Given the description of an element on the screen output the (x, y) to click on. 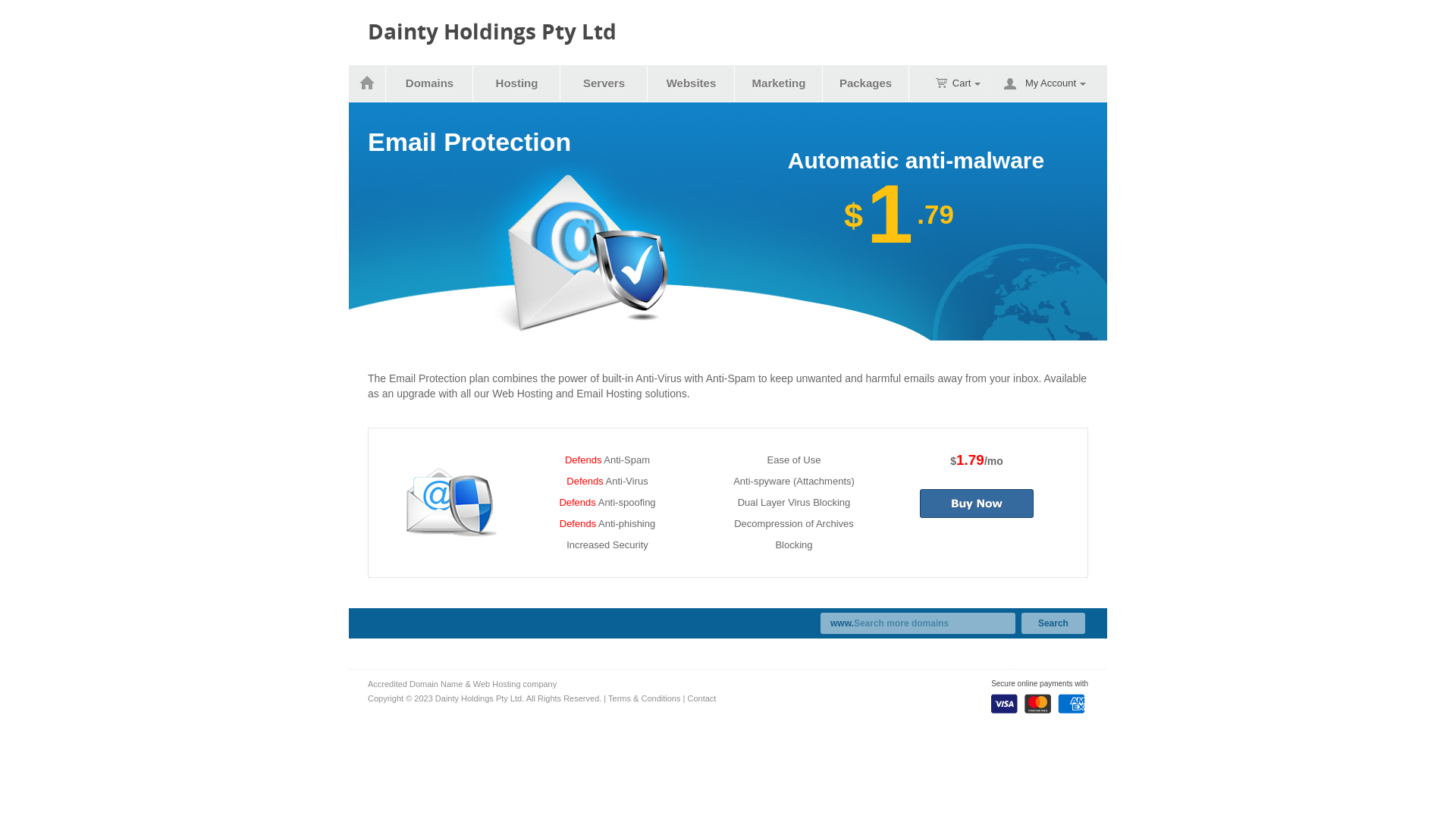
Add to cart Element type: text (976, 503)
Home Element type: text (366, 83)
Websites Element type: text (691, 83)
Dainty Holdings Pty Ltd Element type: text (491, 31)
My Account Element type: text (1055, 83)
Domains Element type: text (429, 83)
Contact Element type: text (701, 697)
Terms & Conditions Element type: text (644, 697)
Hosting Element type: text (516, 83)
Packages Element type: text (865, 83)
Marketing Element type: text (778, 83)
Servers Element type: text (604, 83)
Cart Element type: text (957, 82)
Search Element type: text (1053, 622)
